Given the description of an element on the screen output the (x, y) to click on. 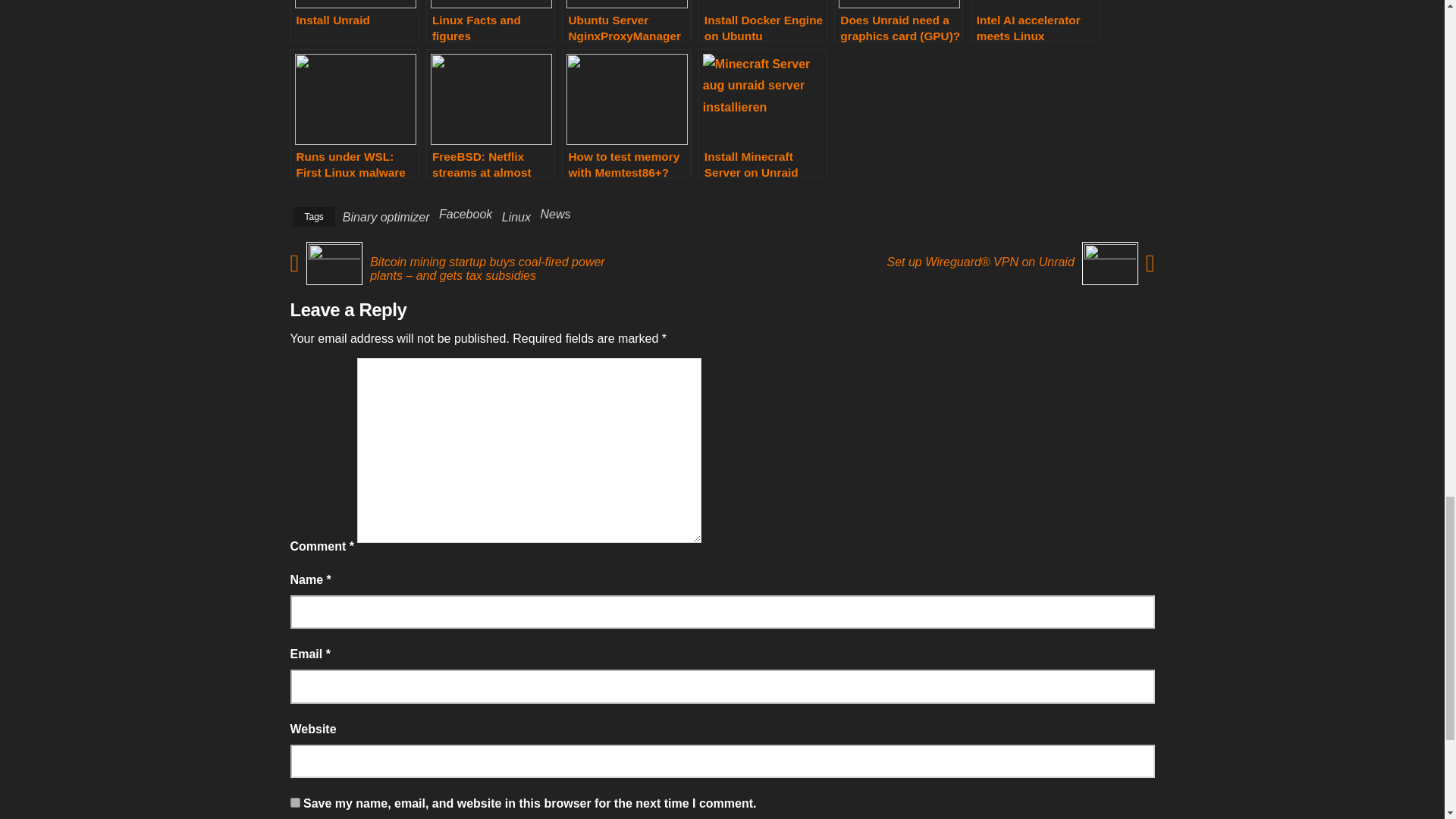
Install Unraid (354, 20)
yes (294, 802)
Linux Facts and figures (490, 20)
